Given the description of an element on the screen output the (x, y) to click on. 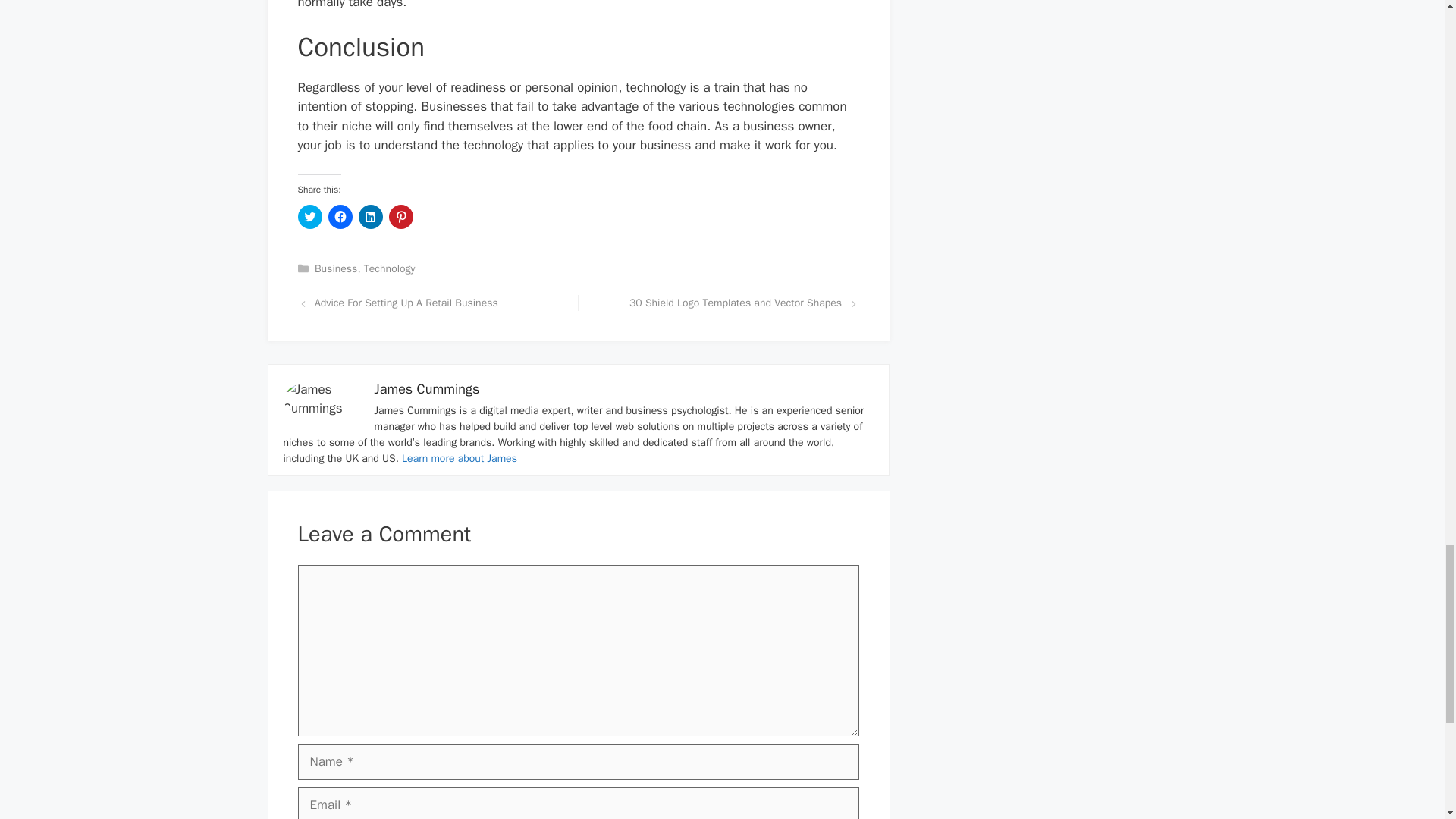
Click to share on Facebook (339, 216)
Learn more about James (458, 458)
Business (335, 268)
Click to share on LinkedIn (369, 216)
Advice For Setting Up A Retail Business (405, 302)
Click to share on Twitter (309, 216)
Click to share on Pinterest (400, 216)
Technology (389, 268)
30 Shield Logo Templates and Vector Shapes (734, 302)
James Cummings (427, 388)
